Given the description of an element on the screen output the (x, y) to click on. 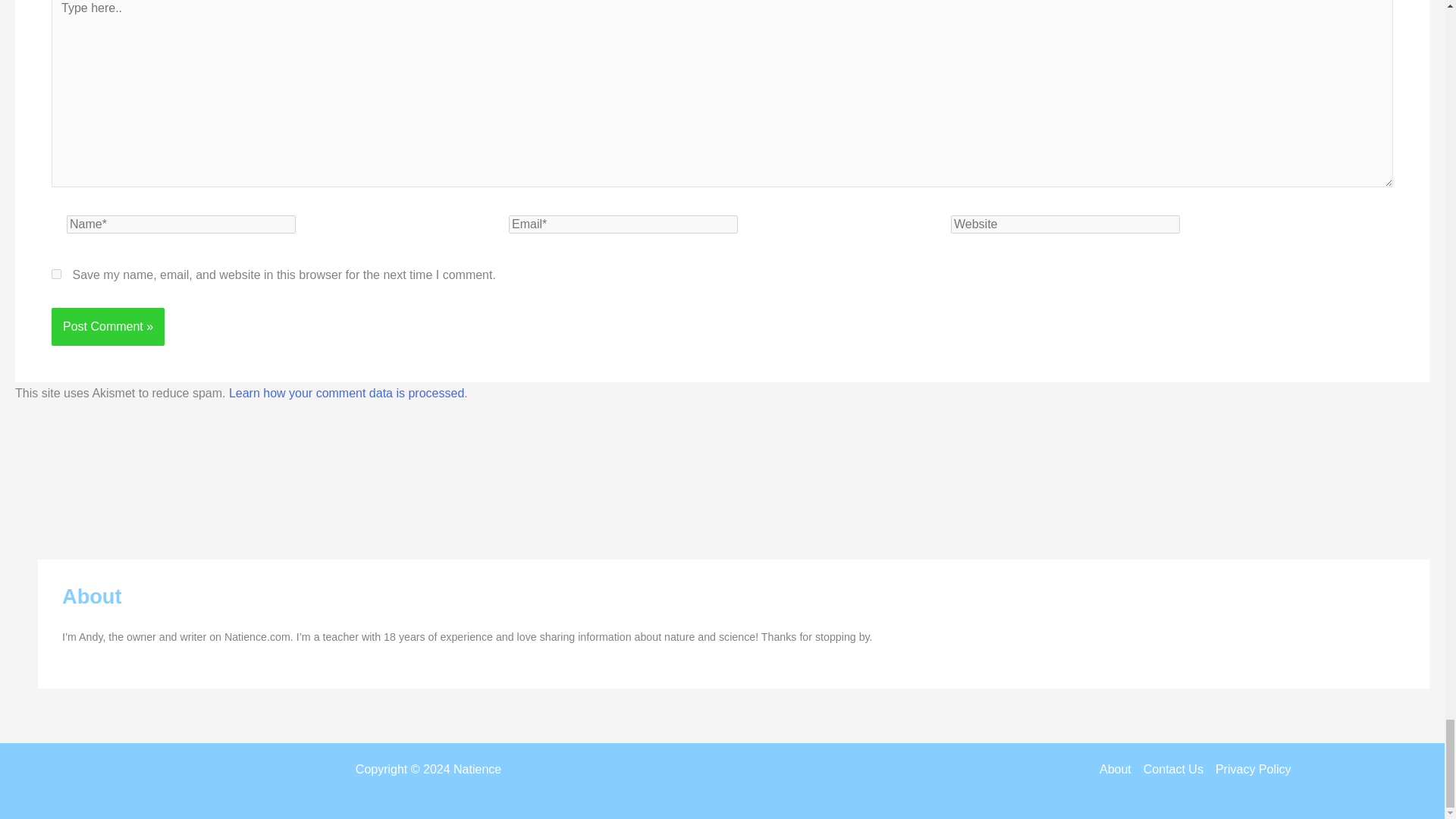
yes (55, 274)
